Given the description of an element on the screen output the (x, y) to click on. 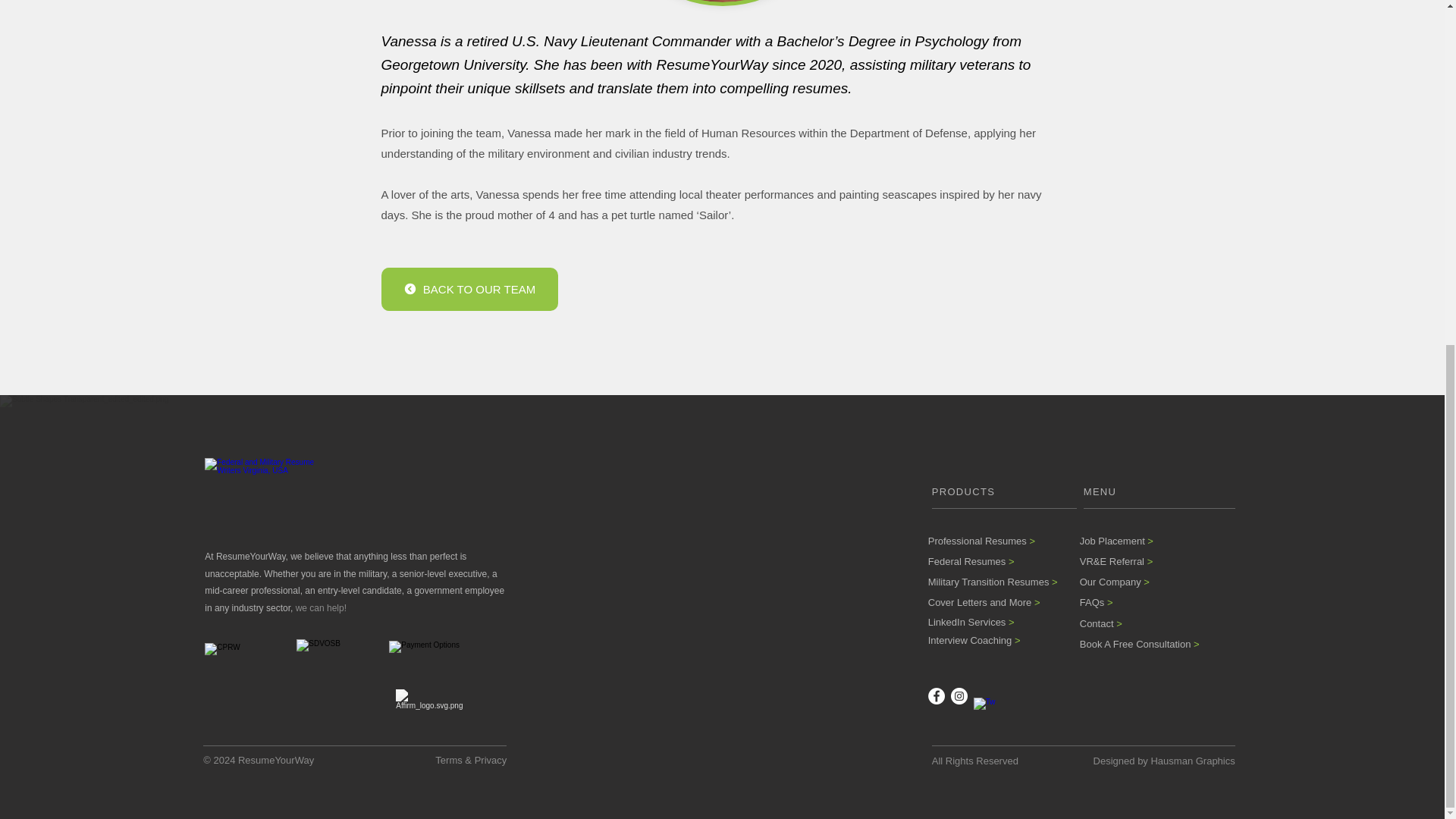
we can help! (320, 607)
SDVOSB (334, 676)
BACK TO OUR TEAM (468, 289)
CPRW (246, 676)
Vanessa (722, 2)
Payment Options (431, 660)
Resume Your Way (265, 490)
